Given the description of an element on the screen output the (x, y) to click on. 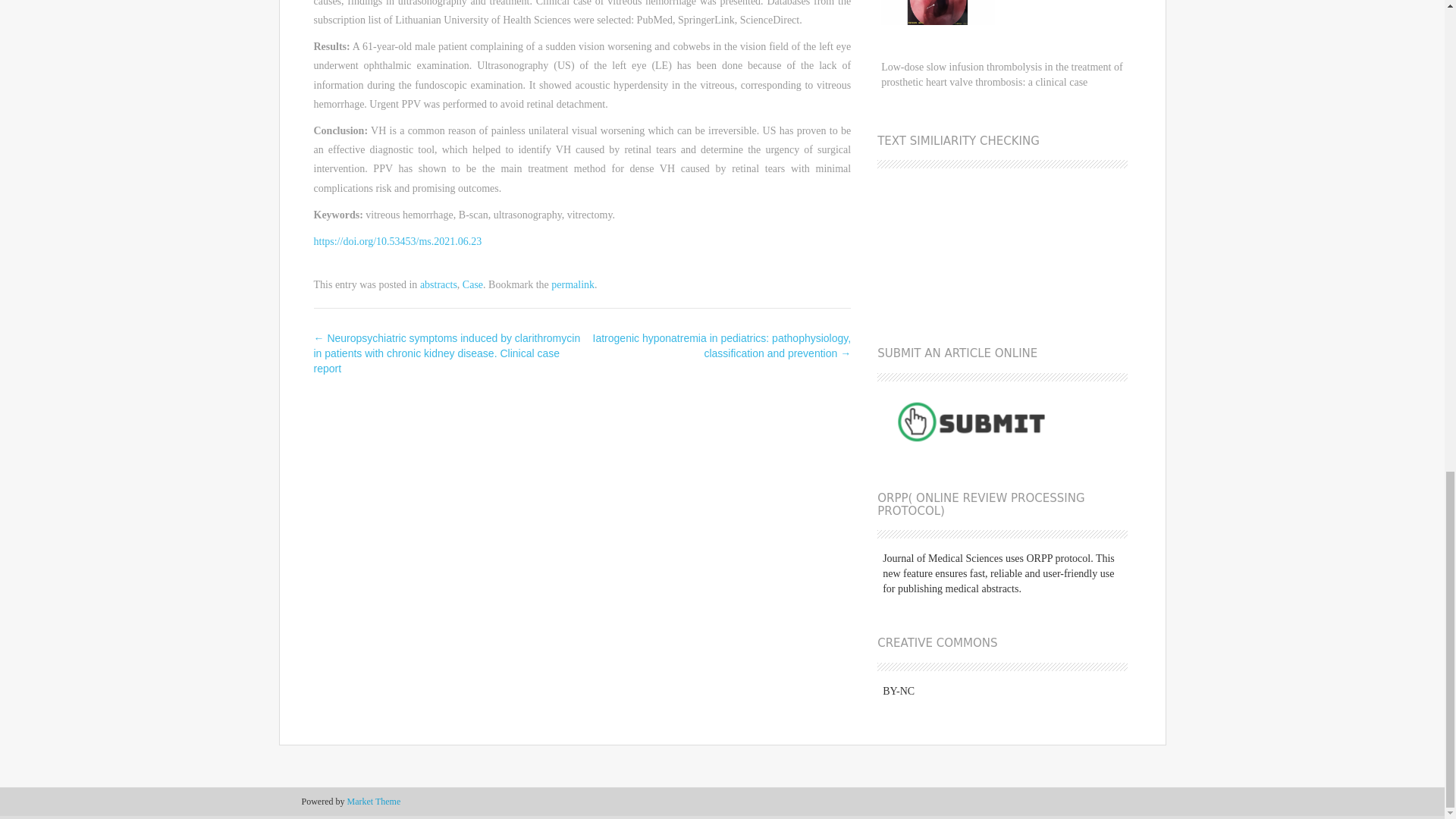
vimeo-player (995, 237)
